Given the description of an element on the screen output the (x, y) to click on. 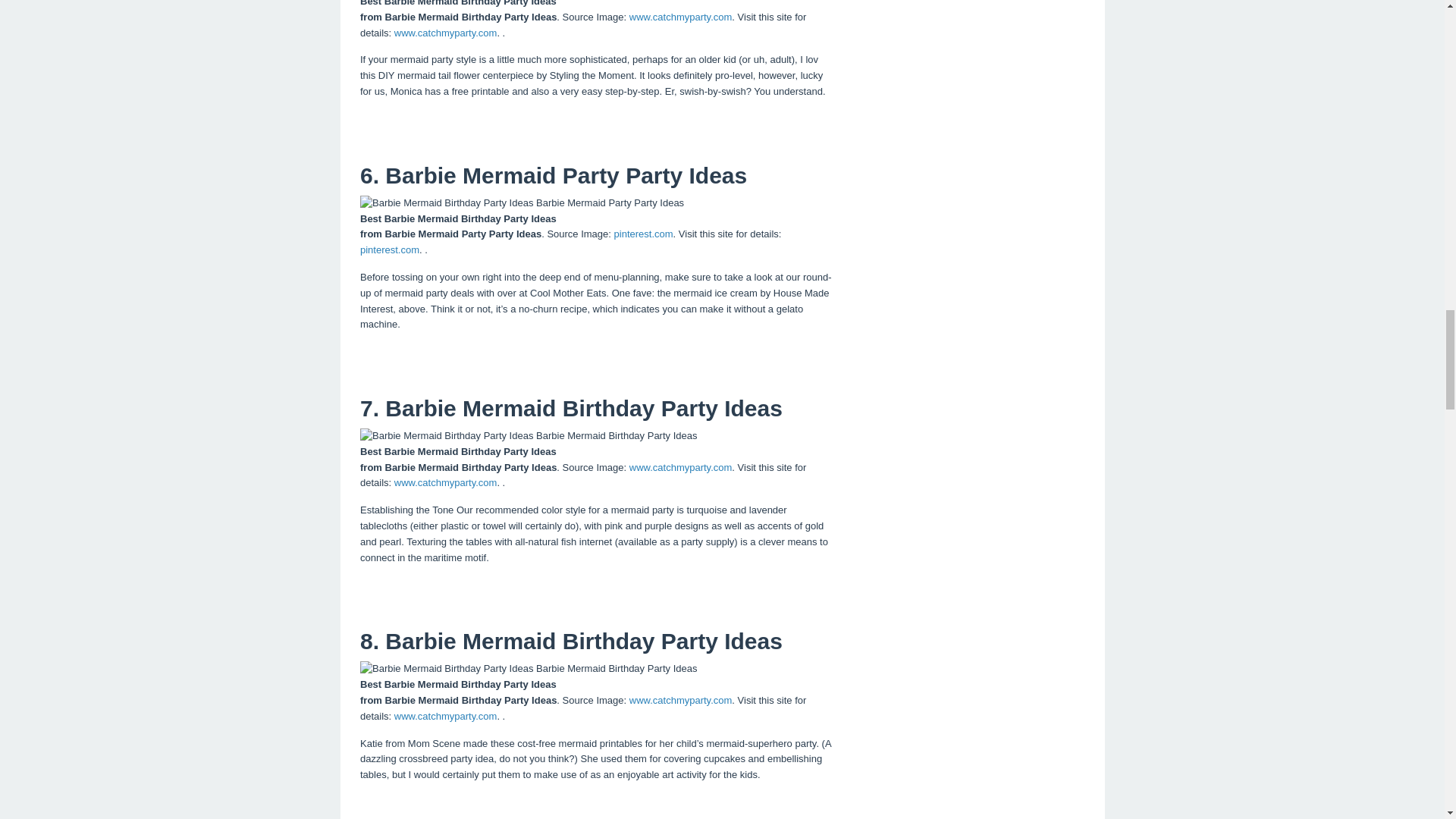
www.catchmyparty.com (680, 699)
www.catchmyparty.com (445, 32)
pinterest.com (643, 233)
pinterest.com (389, 249)
www.catchmyparty.com (680, 467)
www.catchmyparty.com (445, 482)
www.catchmyparty.com (680, 16)
www.catchmyparty.com (445, 715)
